Given the description of an element on the screen output the (x, y) to click on. 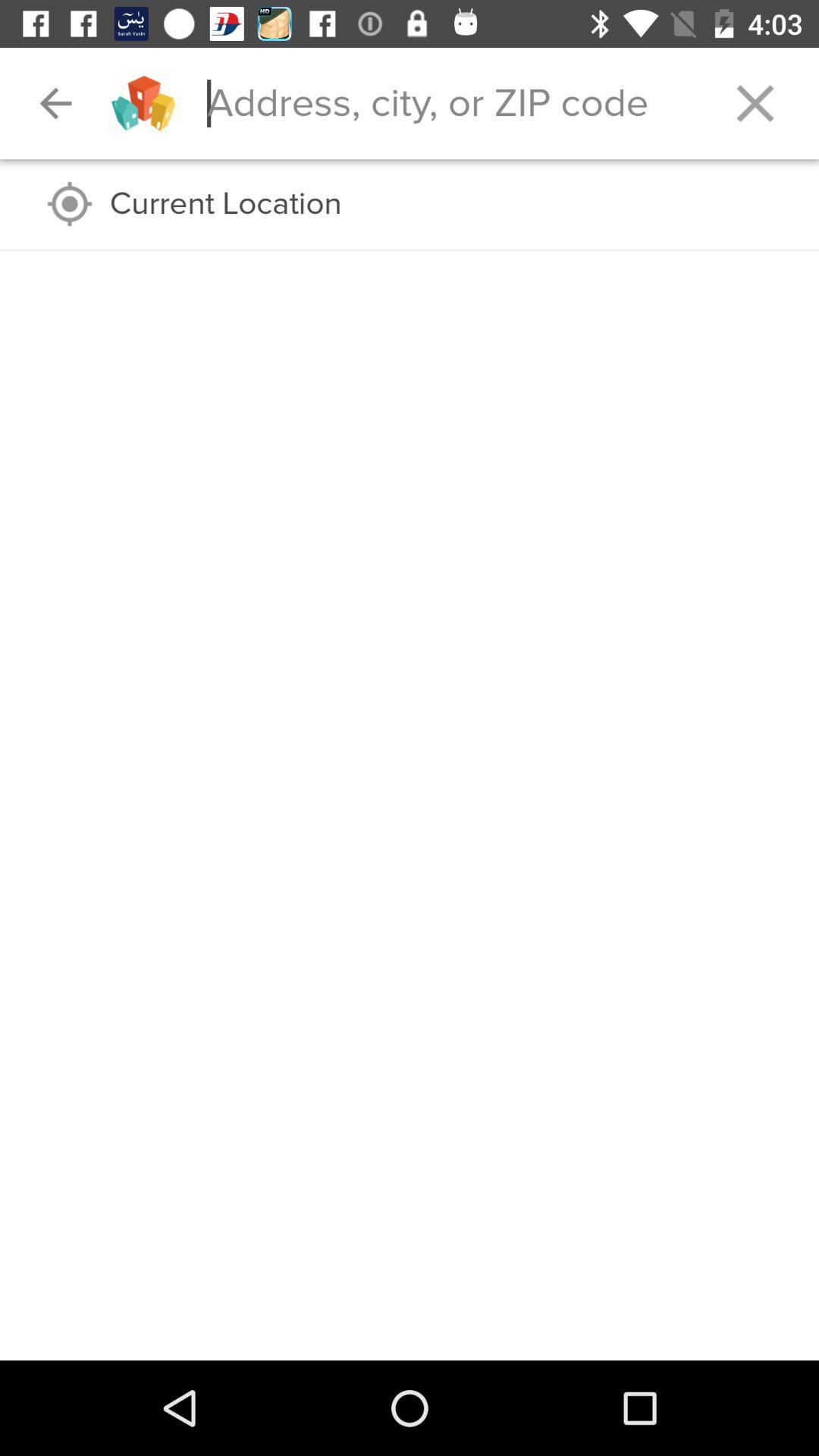
press the icon to the left of the current location icon (69, 203)
